Given the description of an element on the screen output the (x, y) to click on. 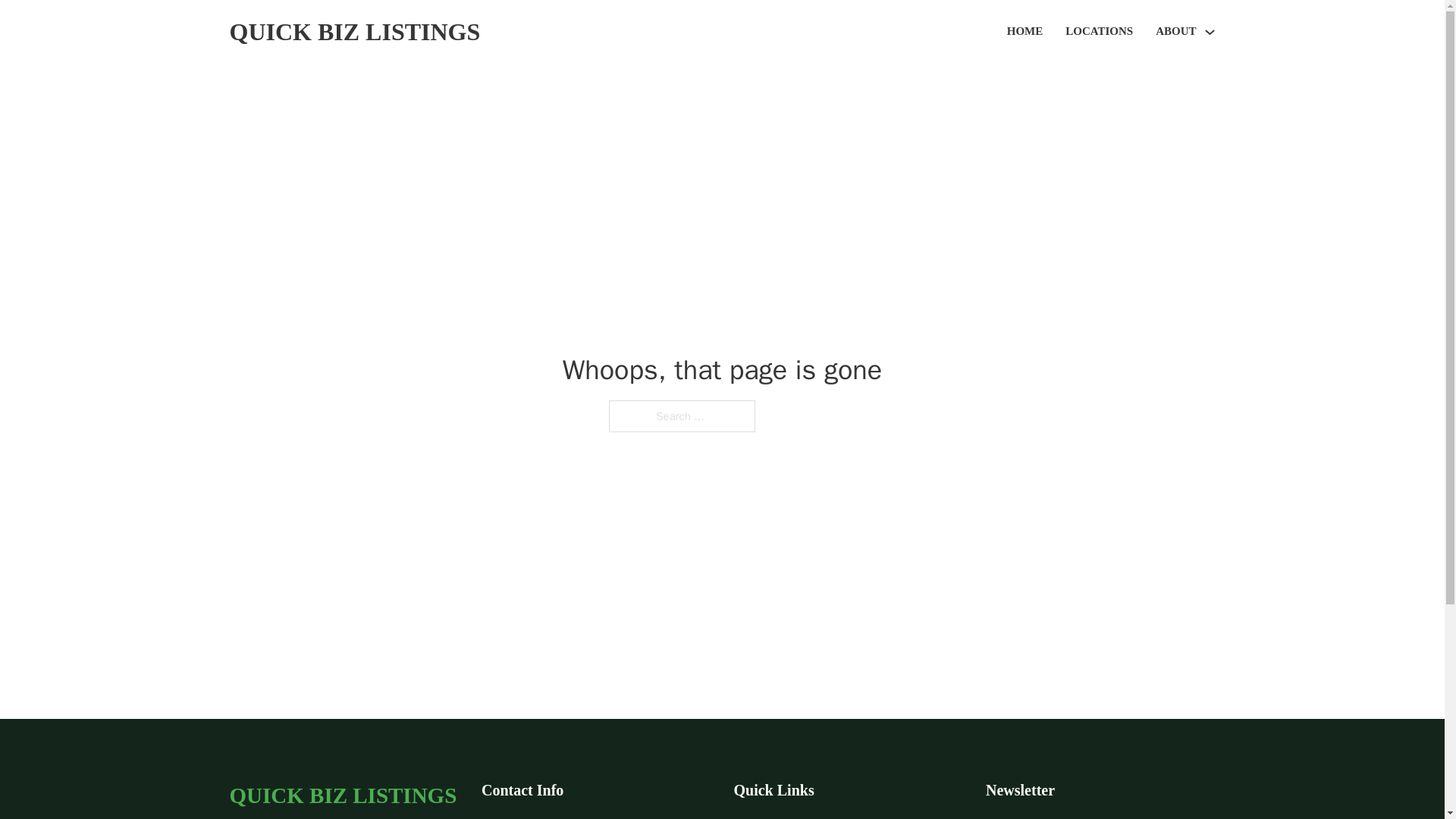
QUICK BIZ LISTINGS (354, 31)
HOME (1025, 31)
LOCATIONS (1098, 31)
QUICK BIZ LISTINGS (342, 795)
